Given the description of an element on the screen output the (x, y) to click on. 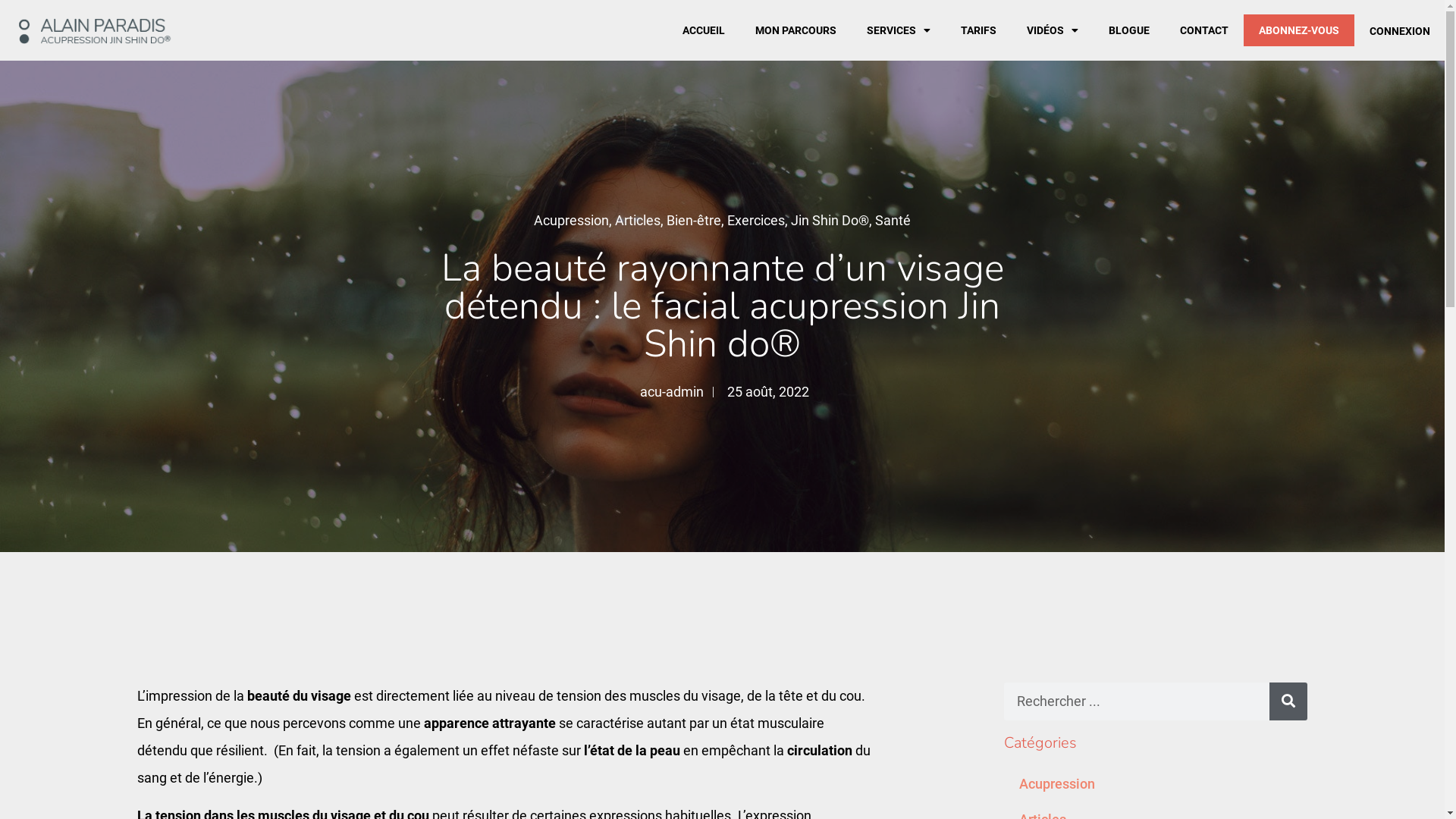
acu-admin Element type: text (668, 391)
CONNEXION Element type: text (1399, 30)
INFOLETTRE Element type: text (440, 621)
ACCUEIL Element type: text (703, 30)
MON PARCOURS Element type: text (795, 30)
Exercices Element type: text (755, 220)
TARIFS Element type: text (978, 30)
Acupression Element type: text (1155, 783)
PRENDRE UN RENDEZ-VOUS Element type: text (488, 569)
Articles Element type: text (637, 220)
ABONNEZ-VOUS Element type: text (1298, 30)
BLOGUE Element type: text (1128, 30)
Acupression Element type: text (570, 220)
SERVICES Element type: text (898, 30)
CONTACT Element type: text (1203, 30)
